Given the description of an element on the screen output the (x, y) to click on. 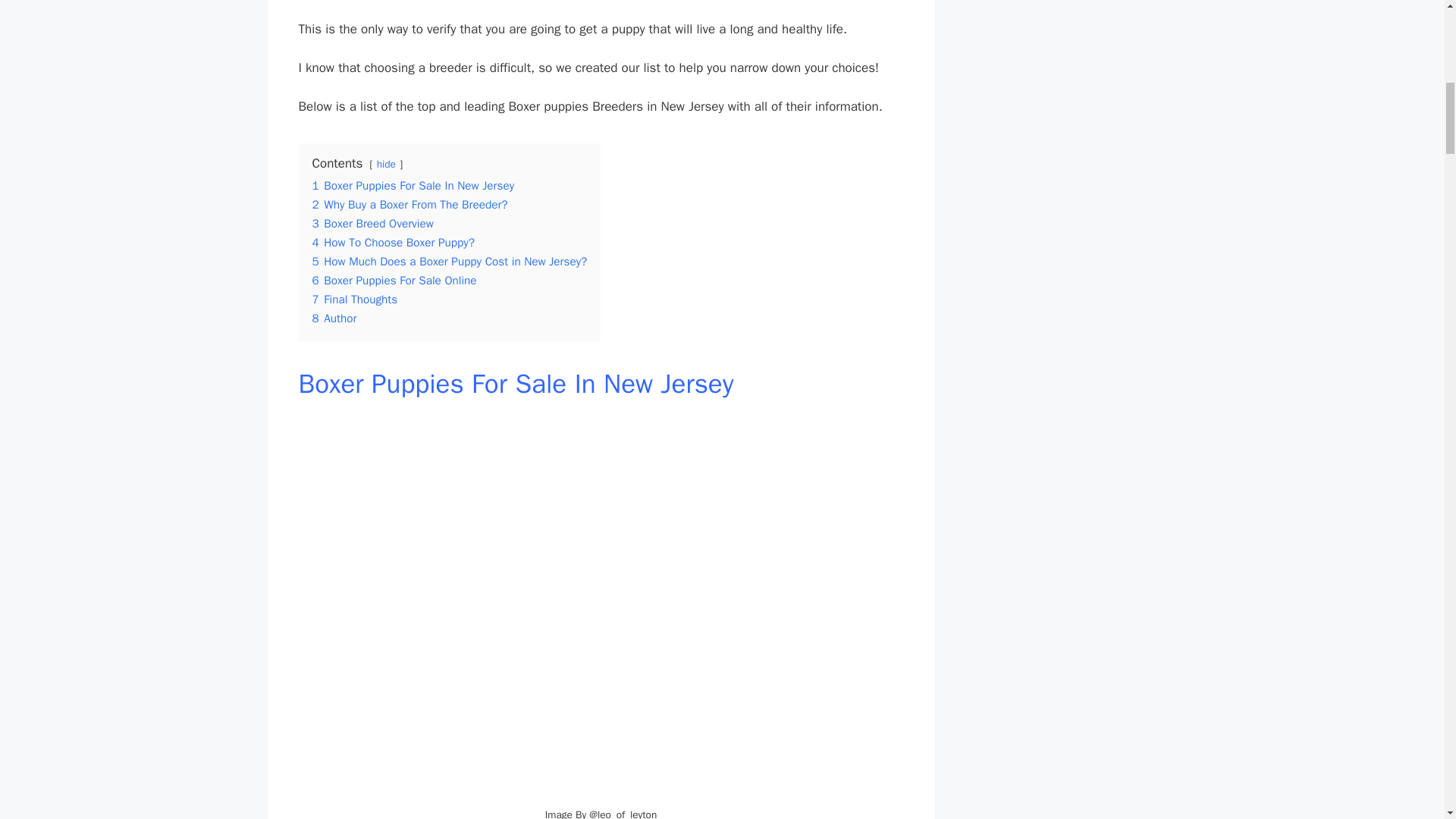
5 How Much Does a Boxer Puppy Cost in New Jersey? (450, 261)
8 Author (334, 318)
hide (386, 164)
1 Boxer Puppies For Sale In New Jersey (414, 185)
7 Final Thoughts (355, 299)
3 Boxer Breed Overview (373, 223)
6 Boxer Puppies For Sale Online (395, 280)
2 Why Buy a Boxer From The Breeder? (410, 204)
4 How To Choose Boxer Puppy? (393, 242)
